Given the description of an element on the screen output the (x, y) to click on. 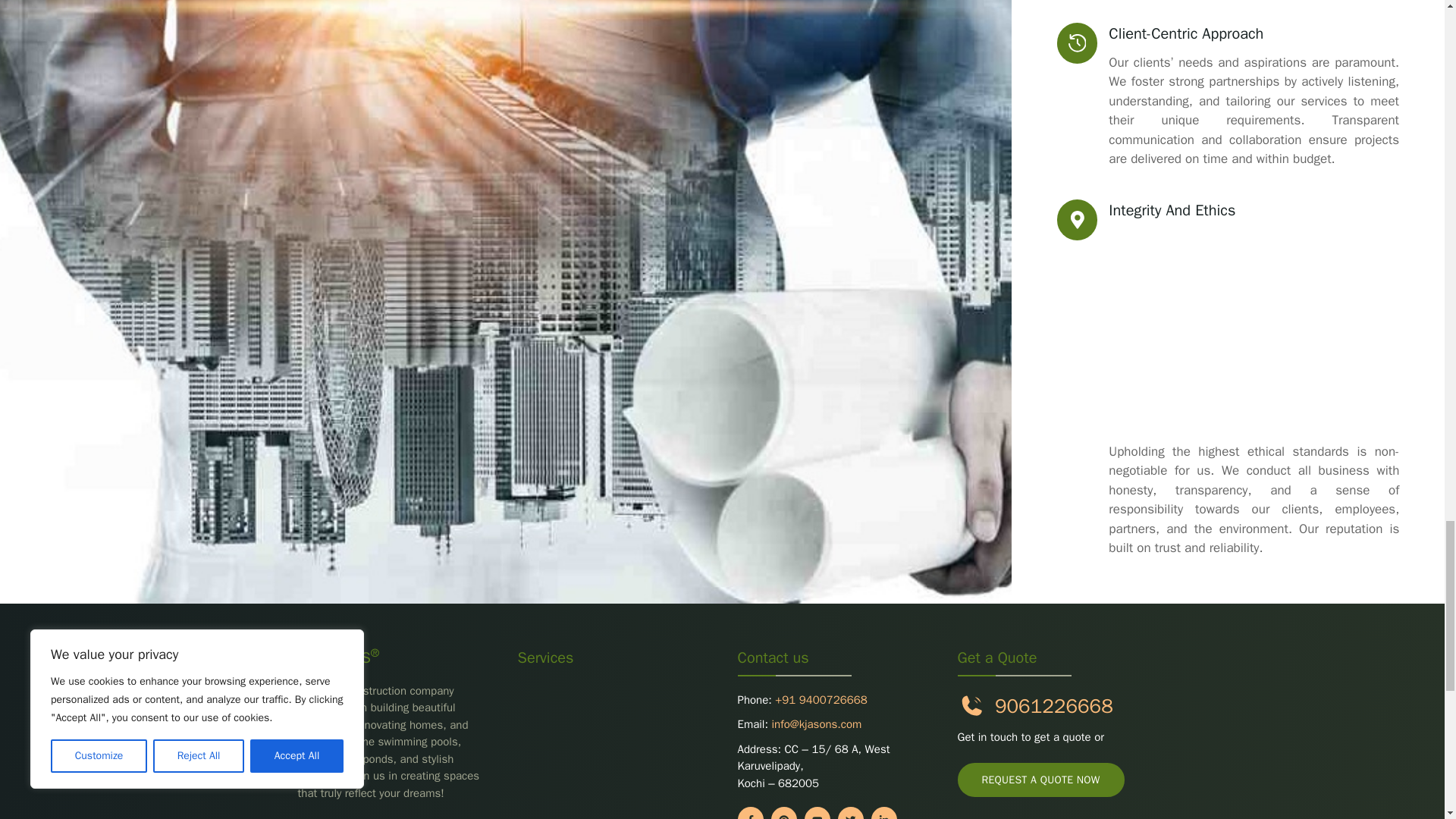
Advertisement (611, 746)
Advertisement (1253, 336)
